Given the description of an element on the screen output the (x, y) to click on. 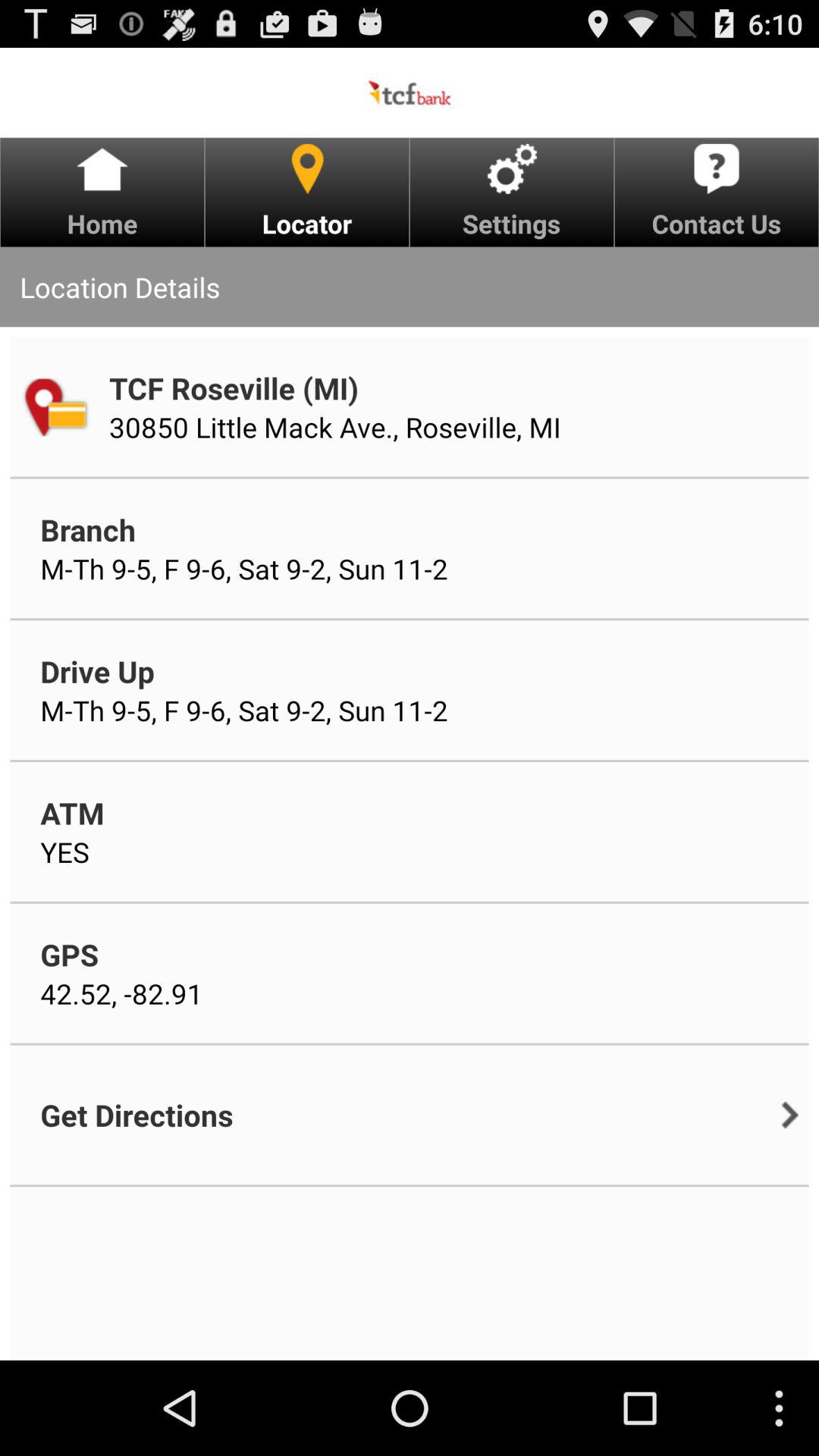
flip until the 30850 little mack app (334, 426)
